Given the description of an element on the screen output the (x, y) to click on. 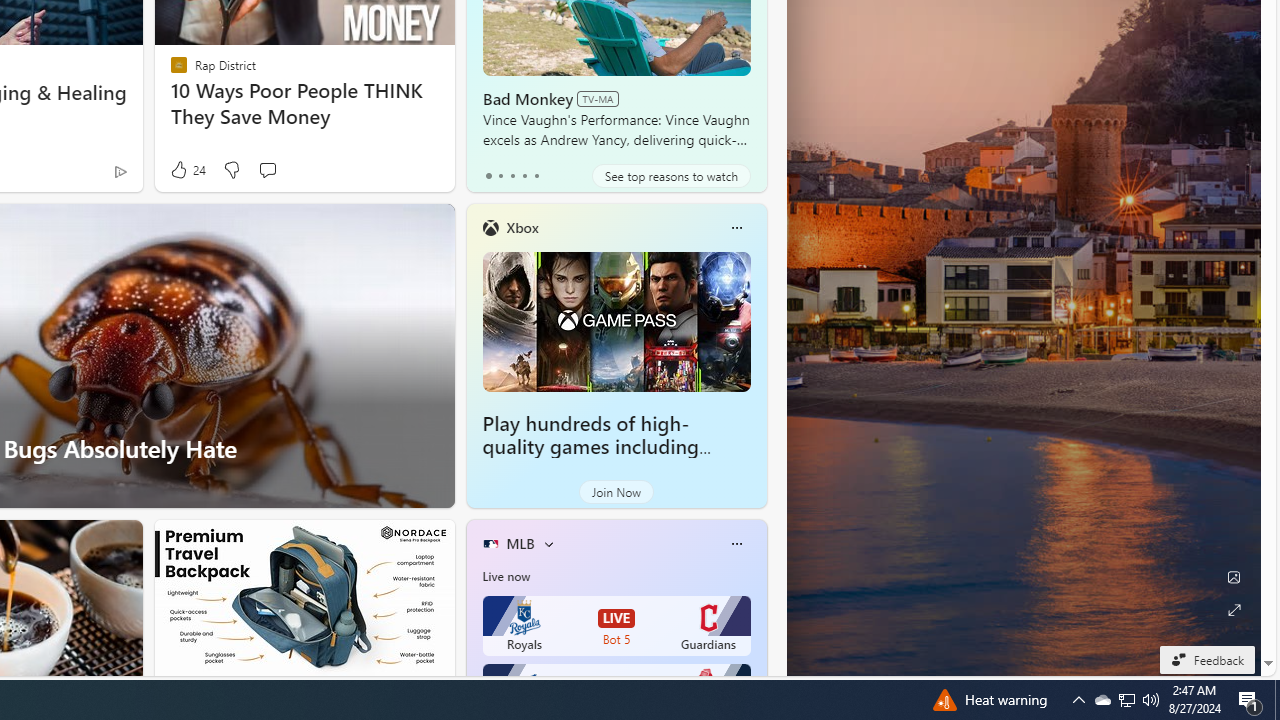
Xbox (521, 227)
Start the conversation (267, 169)
More interests (548, 543)
Ad Choice (119, 171)
See top reasons to watch (671, 175)
tab-0 (488, 175)
24 Like (186, 170)
tab-4 (535, 175)
tab-3 (524, 175)
Start the conversation (267, 170)
Expand background (1233, 610)
Royals LIVE Bot 5 Guardians (616, 625)
Class: icon-img (736, 543)
tab-2 (511, 175)
